Given the description of an element on the screen output the (x, y) to click on. 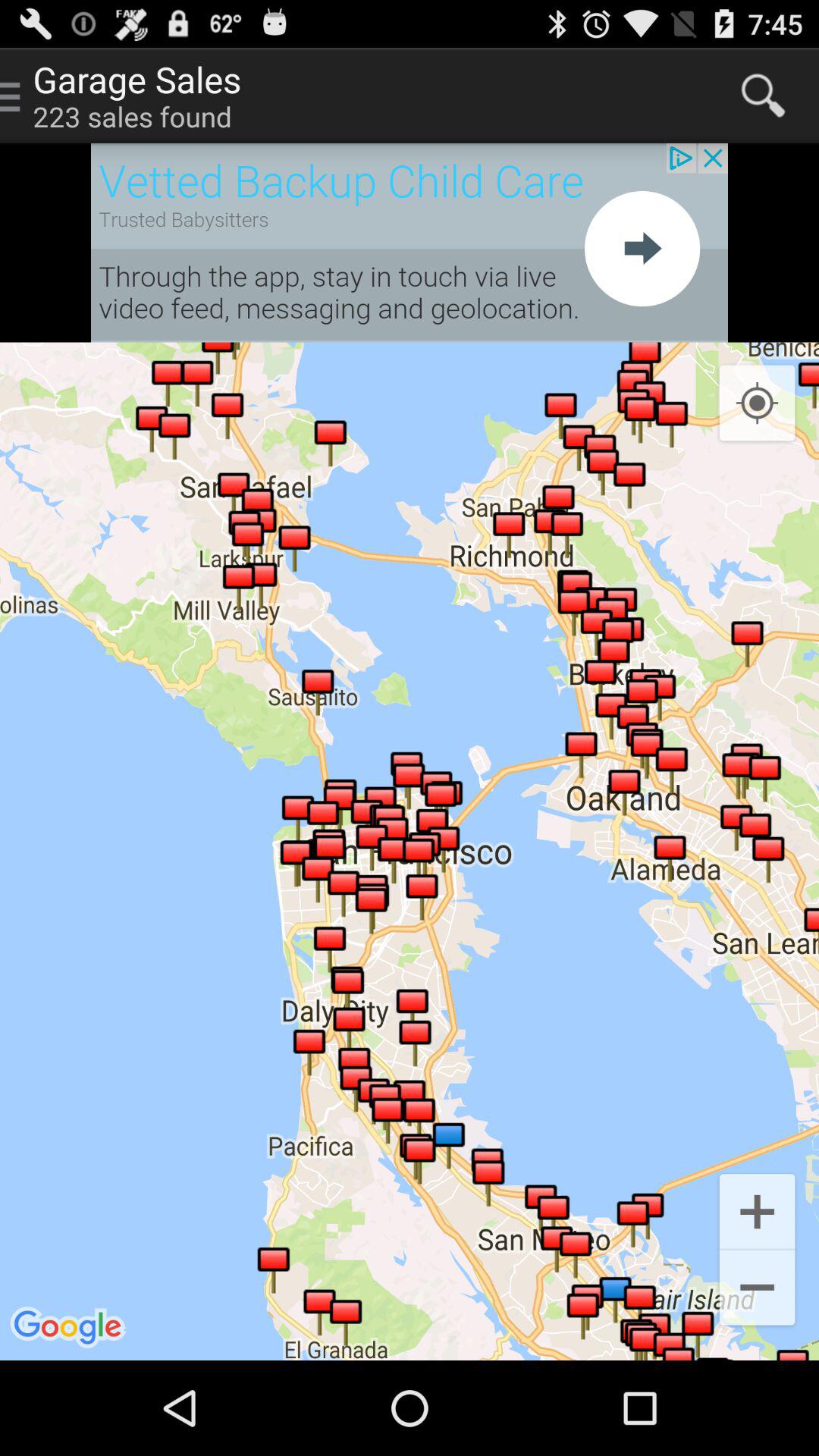
redirect to a page for a babysitting app (409, 242)
